Given the description of an element on the screen output the (x, y) to click on. 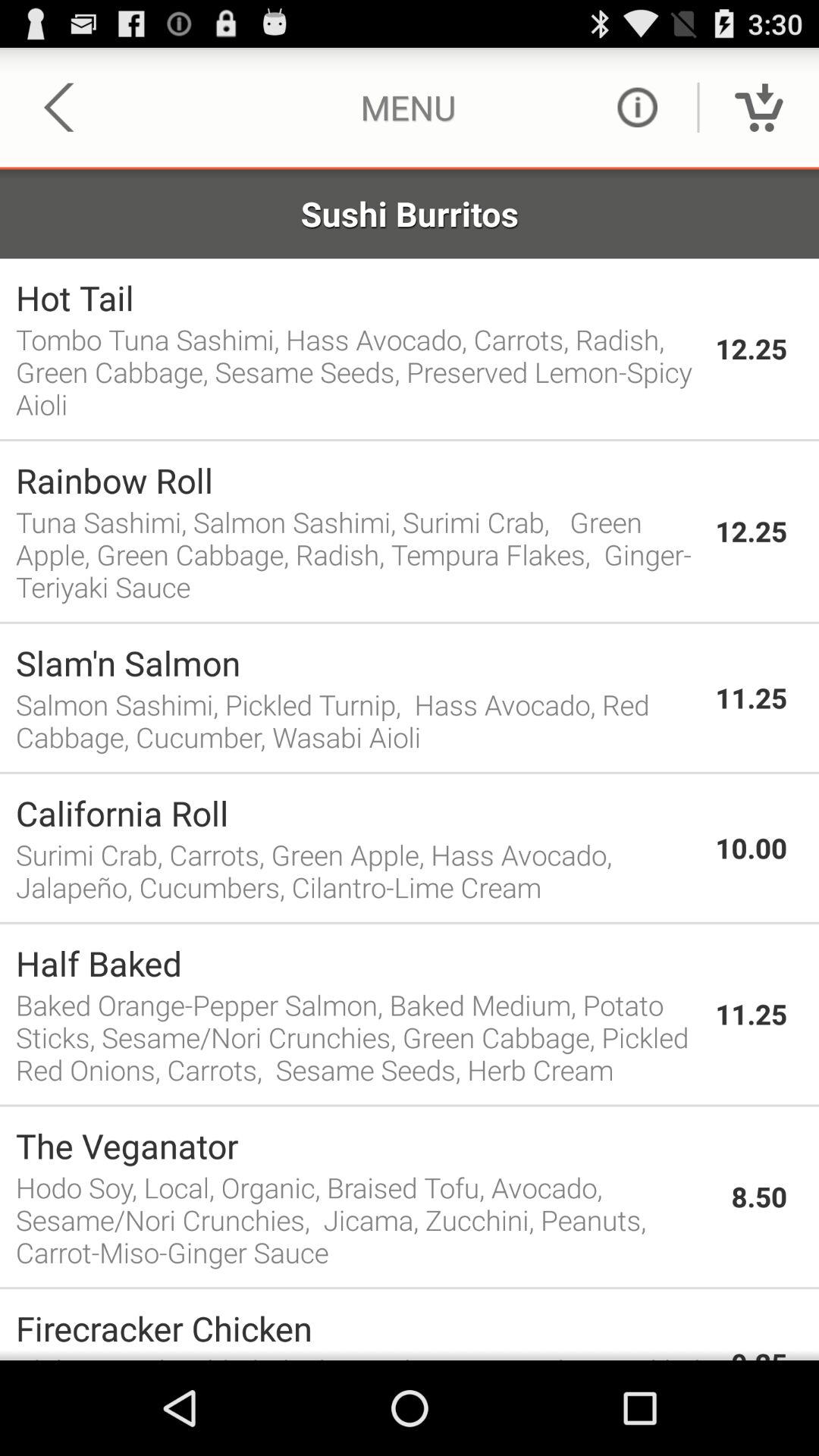
press the item to the left of 12.25 (357, 371)
